Given the description of an element on the screen output the (x, y) to click on. 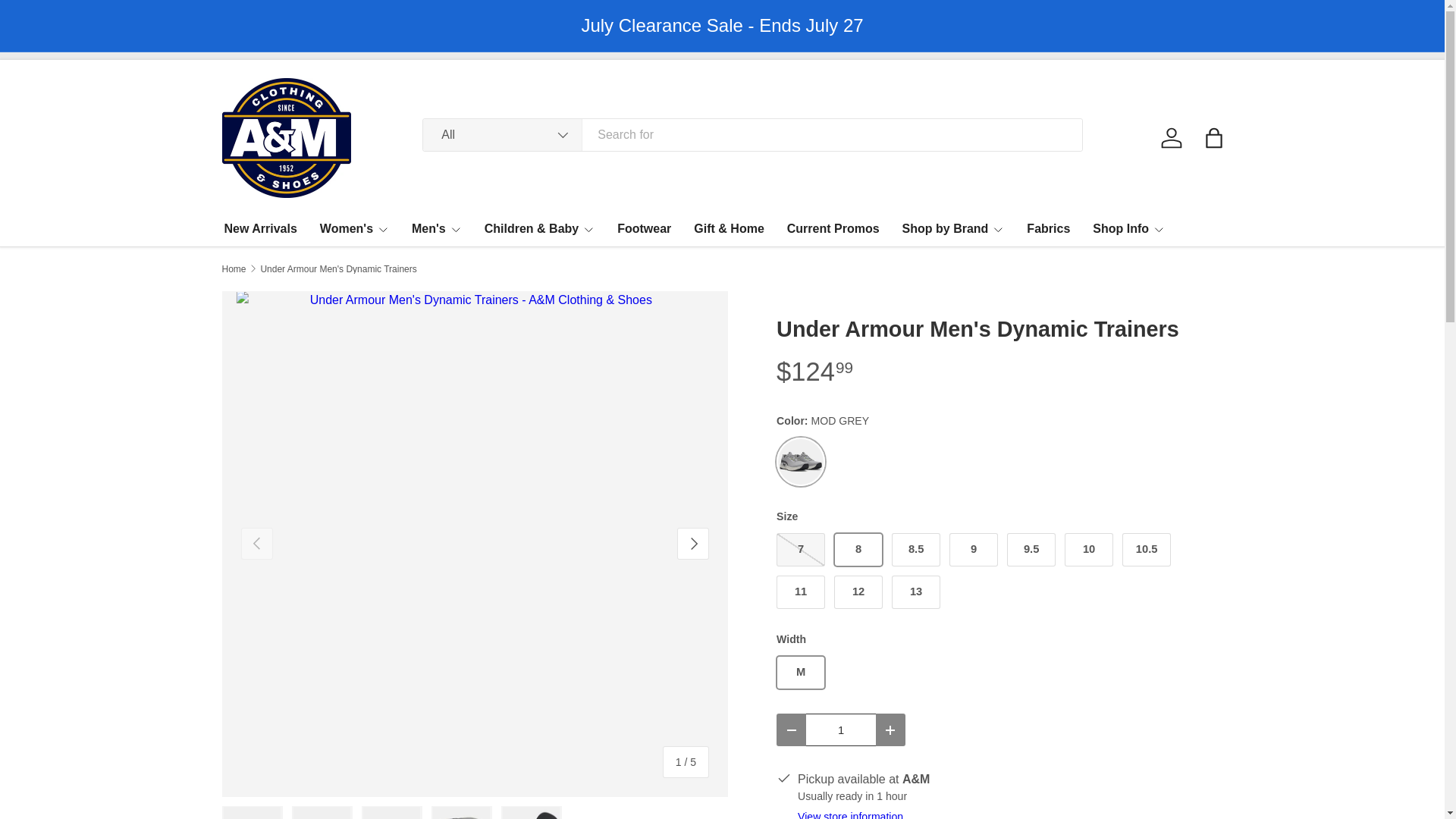
Skip to content (64, 21)
All (502, 134)
Bag (1213, 137)
Women's (354, 227)
Sold out (800, 549)
